Given the description of an element on the screen output the (x, y) to click on. 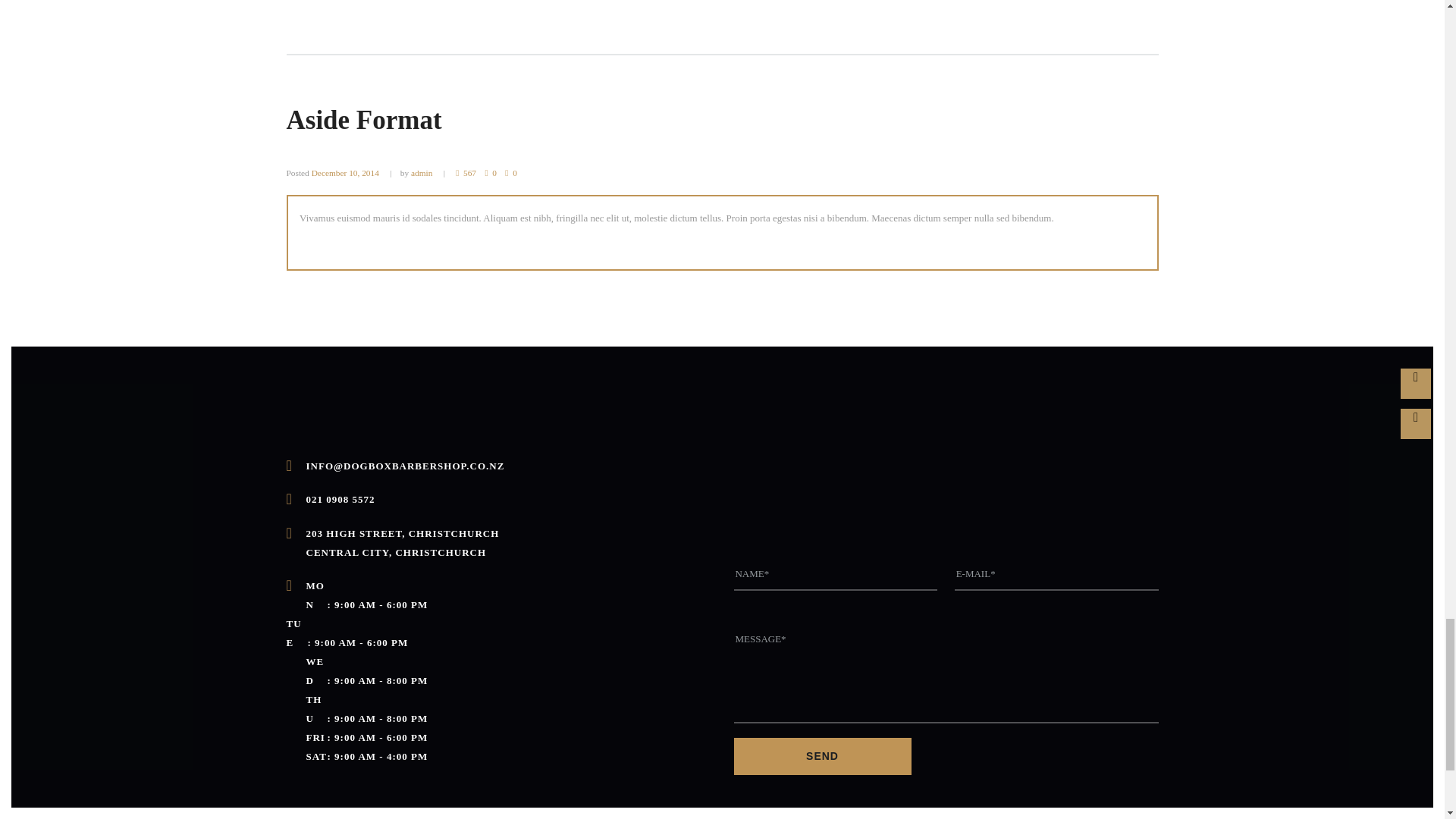
SEND (822, 755)
